Given the description of an element on the screen output the (x, y) to click on. 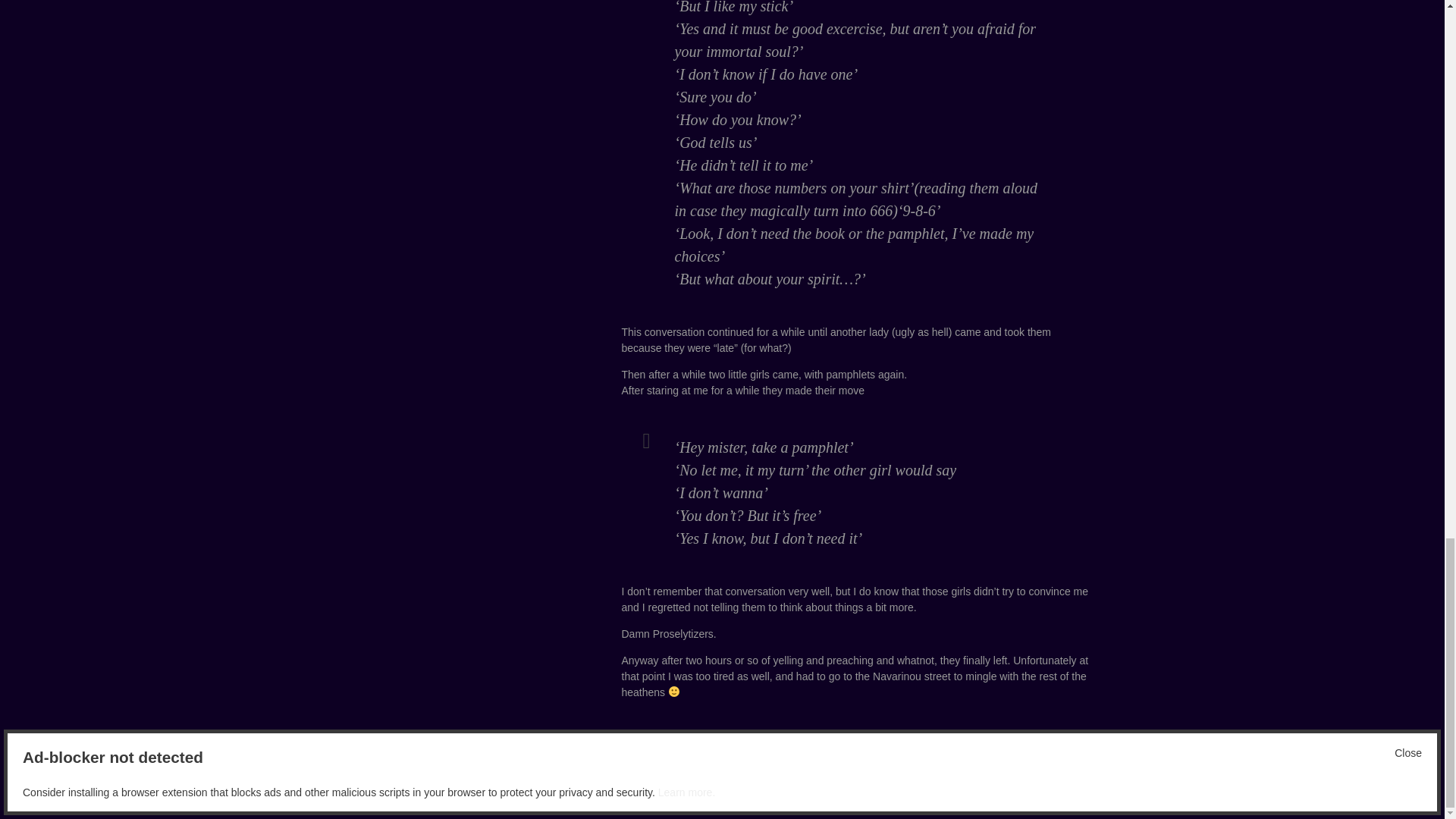
Hachyderm (377, 788)
EVENT (698, 742)
ZEALOTS (820, 742)
Sigmoid (432, 788)
Free dark wordpress theme (1038, 788)
RELIGION (740, 742)
